Given the description of an element on the screen output the (x, y) to click on. 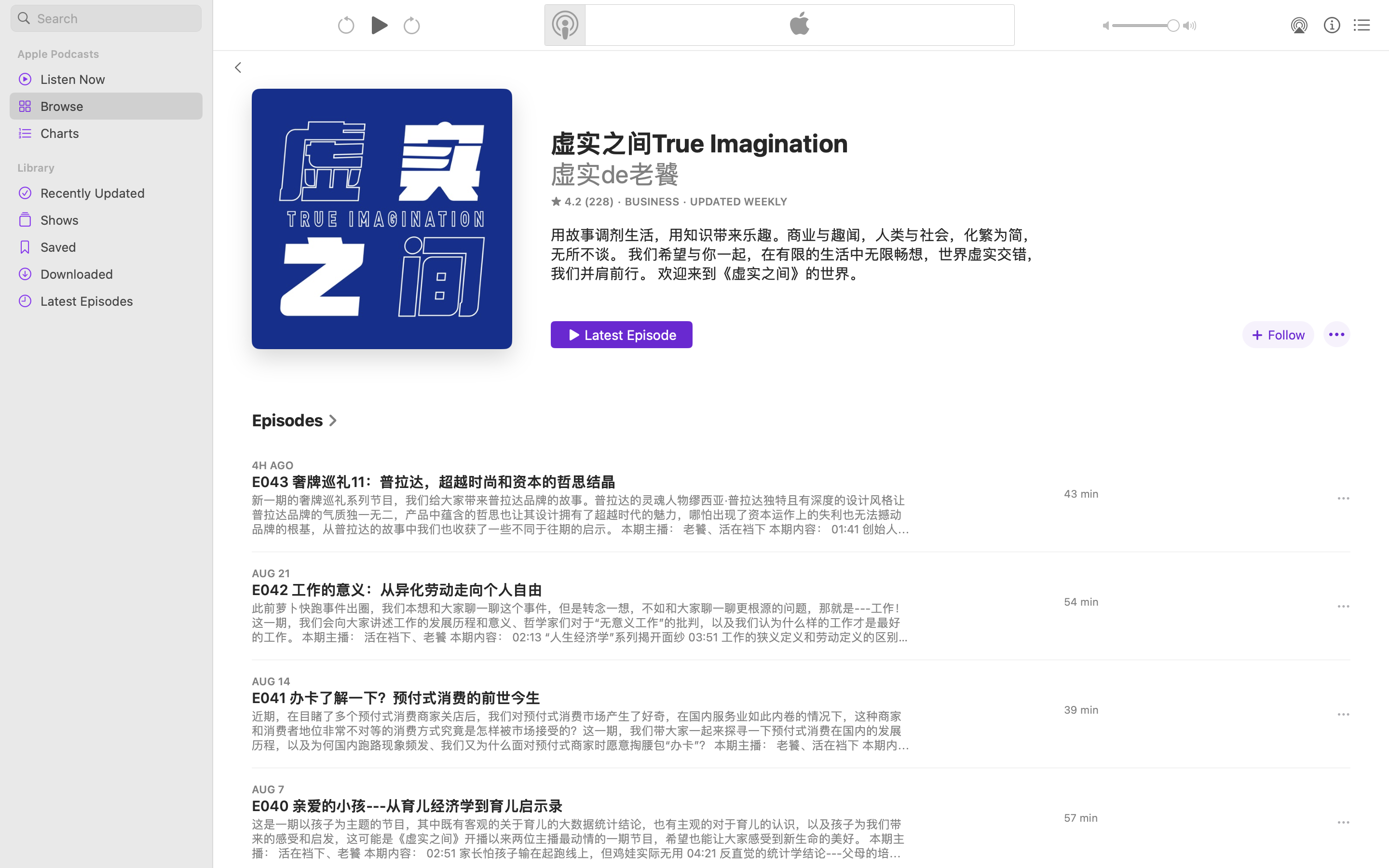
1.0 Element type: AXSlider (1145, 25)
